Given the description of an element on the screen output the (x, y) to click on. 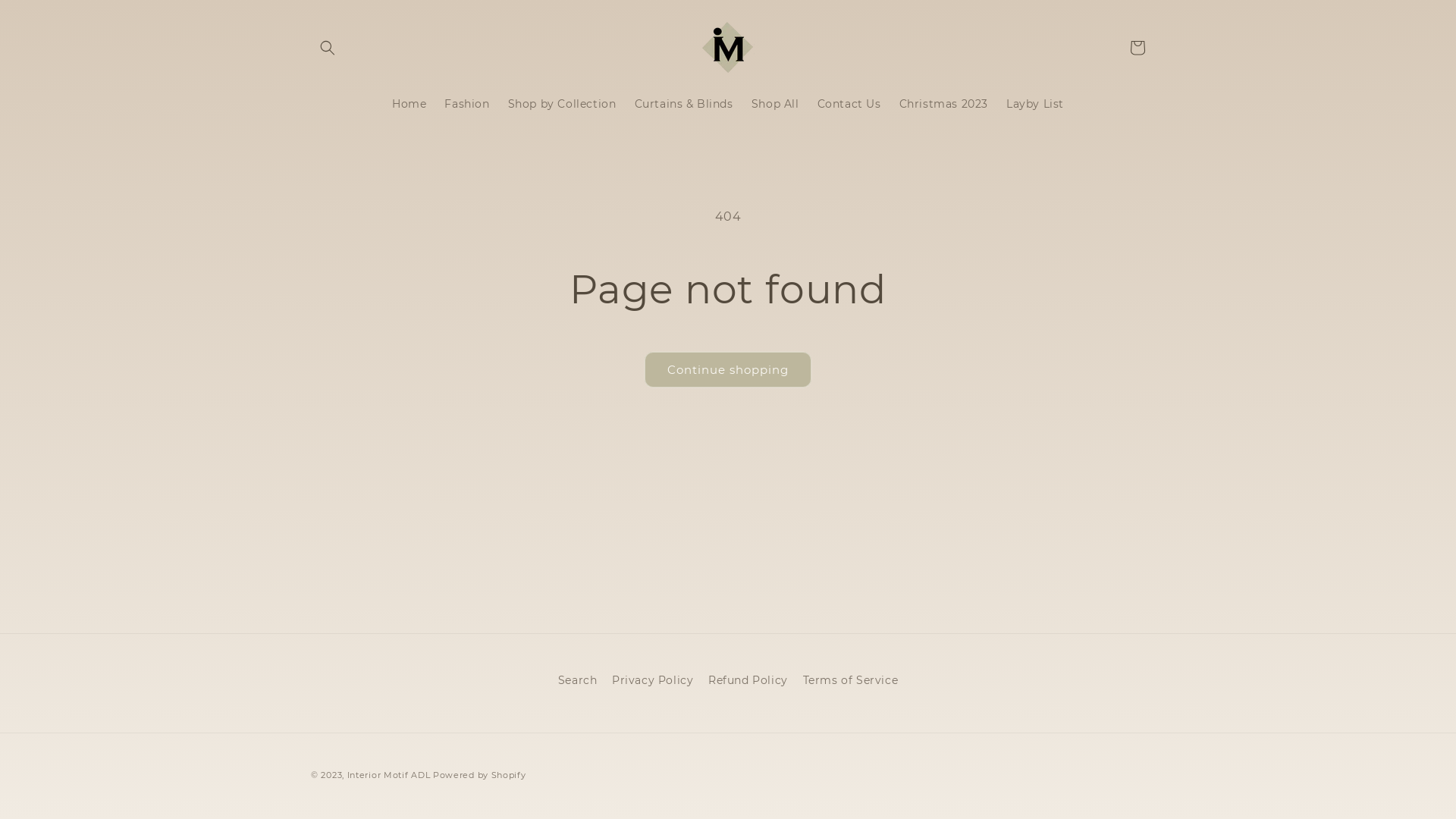
Refund Policy Element type: text (747, 680)
Layby List Element type: text (1035, 103)
Home Element type: text (408, 103)
Interior Motif ADL Element type: text (388, 774)
Continue shopping Element type: text (727, 369)
Powered by Shopify Element type: text (479, 774)
Cart Element type: text (1137, 46)
Shop by Collection Element type: text (561, 103)
Curtains & Blinds Element type: text (682, 103)
Fashion Element type: text (466, 103)
Shop All Element type: text (775, 103)
Search Element type: text (577, 682)
Christmas 2023 Element type: text (943, 103)
Terms of Service Element type: text (850, 680)
Privacy Policy Element type: text (652, 680)
Contact Us Element type: text (849, 103)
